Given the description of an element on the screen output the (x, y) to click on. 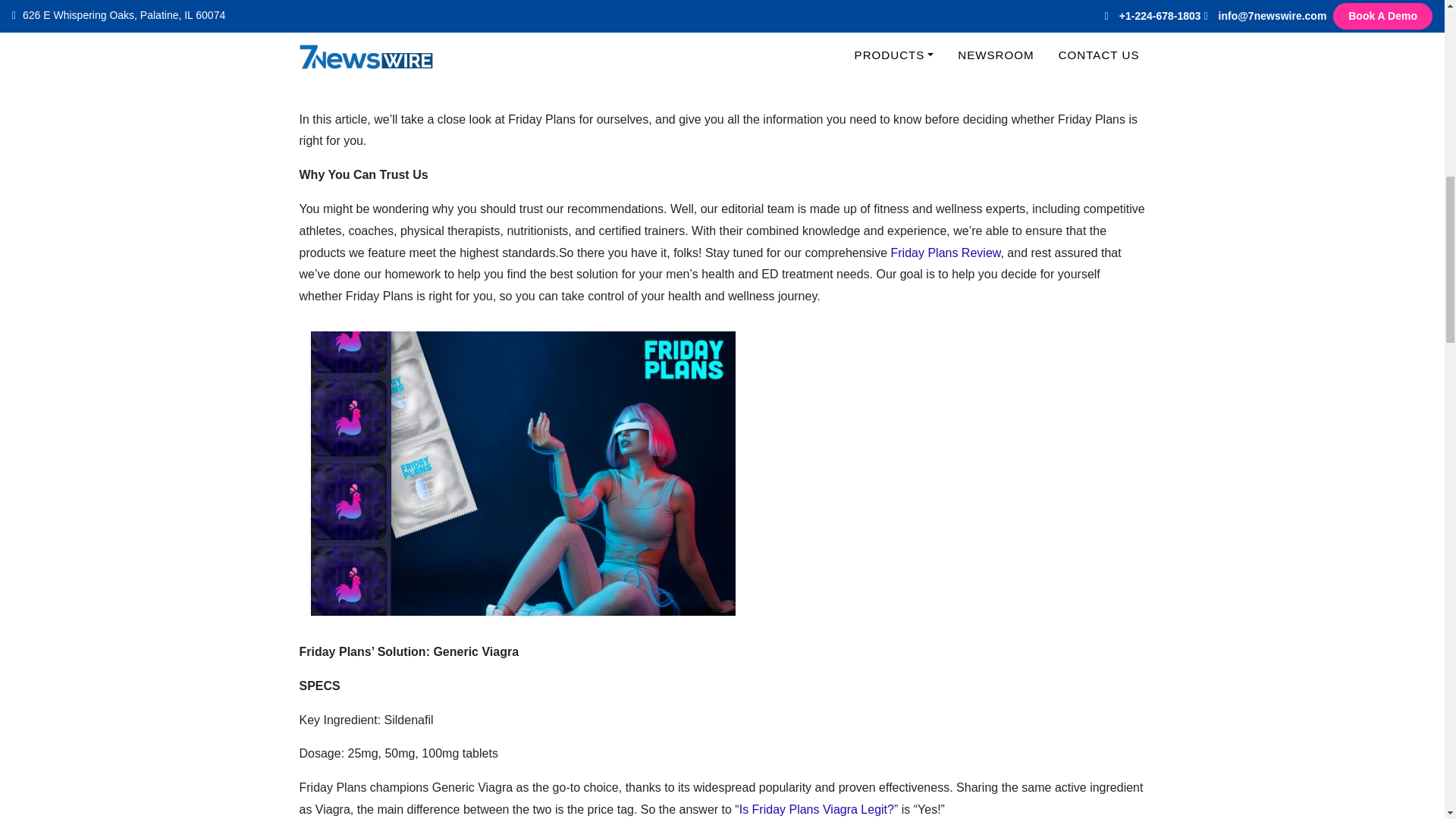
Friday Plans Cost? (714, 52)
Is Friday Plans Safe? (943, 41)
Friday Plans reviews (552, 41)
Is Friday Plans Legit? (820, 41)
Friday Plans complaints (801, 62)
Is Friday Plans Viagra Legit? (816, 809)
Friday Plans reviews (542, 62)
Friday Plans Review (944, 252)
pros and cons of Friday Plans (705, 73)
